Given the description of an element on the screen output the (x, y) to click on. 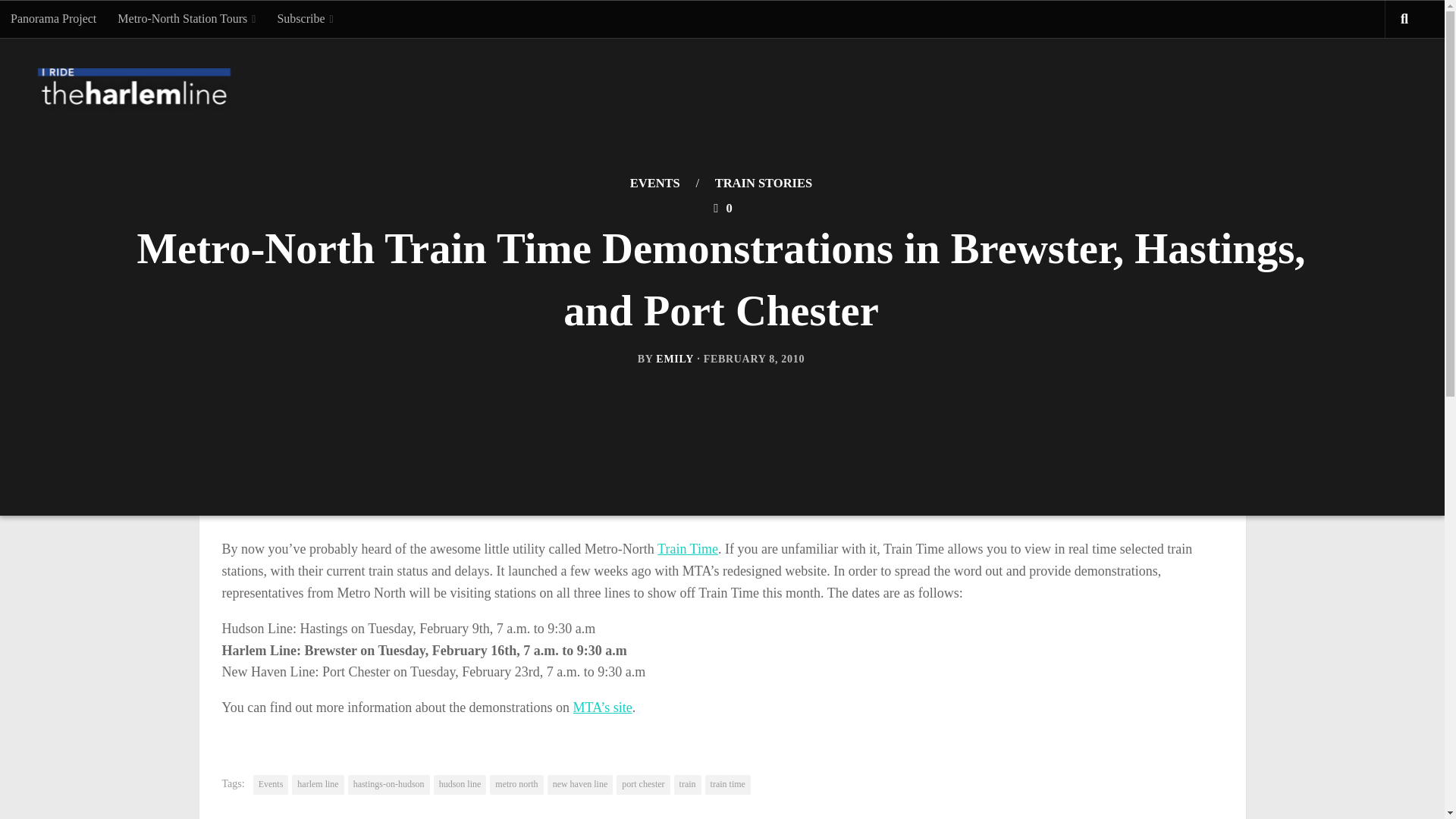
0 (721, 207)
TRAIN STORIES (763, 183)
Panorama Project (53, 18)
Subscribe (304, 18)
Posts by Emily (675, 358)
EVENTS (654, 183)
Skip to content (59, 20)
Metro-North Station Tours (186, 18)
EMILY (675, 358)
